Given the description of an element on the screen output the (x, y) to click on. 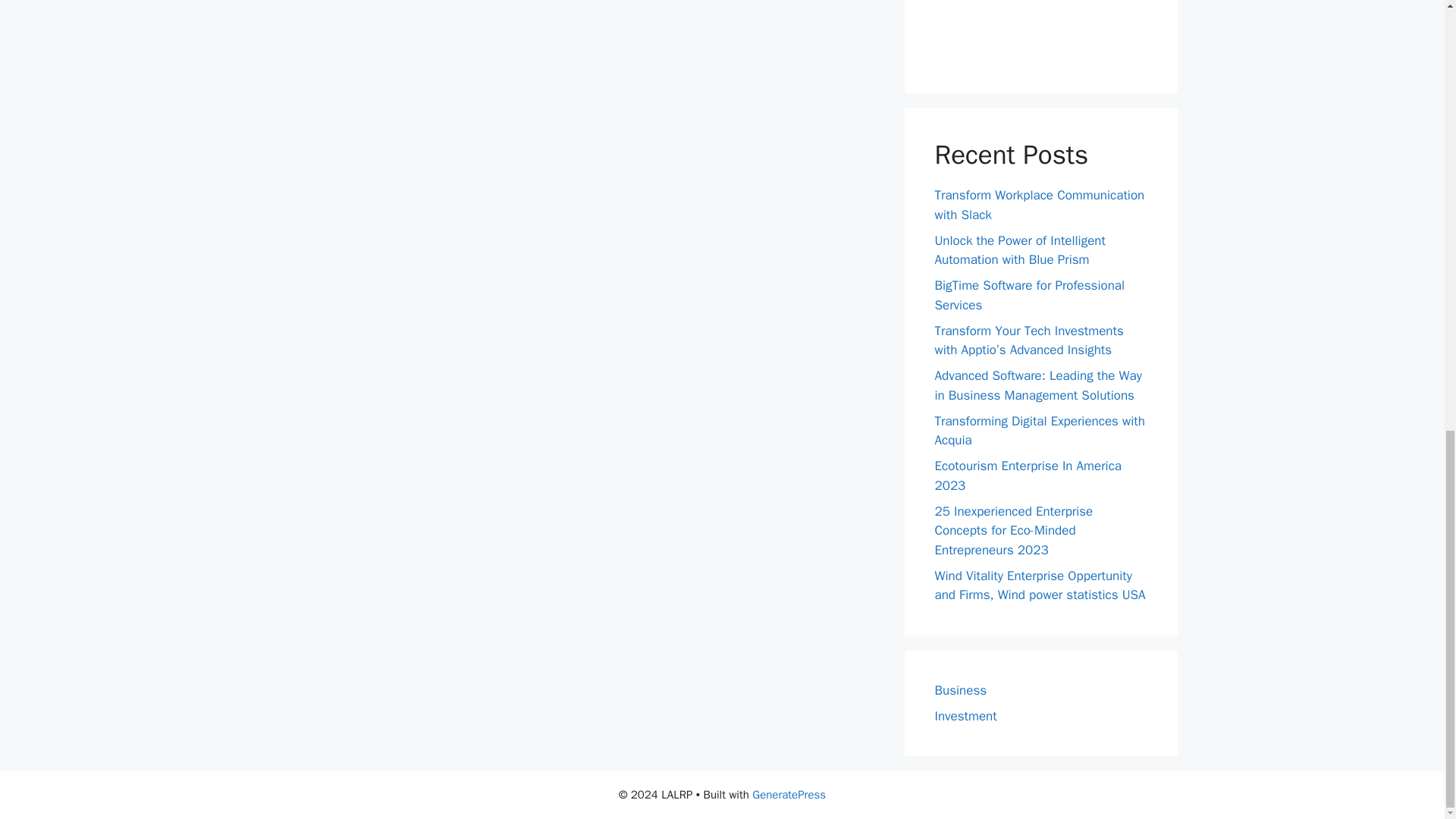
Investment (964, 715)
Transform Workplace Communication with Slack (1039, 204)
GeneratePress (788, 794)
Business (960, 690)
BigTime Software for Professional Services (1029, 294)
Unlock the Power of Intelligent Automation with Blue Prism (1019, 249)
Ecotourism Enterprise In America 2023 (1027, 475)
Transforming Digital Experiences with Acquia (1039, 429)
